Given the description of an element on the screen output the (x, y) to click on. 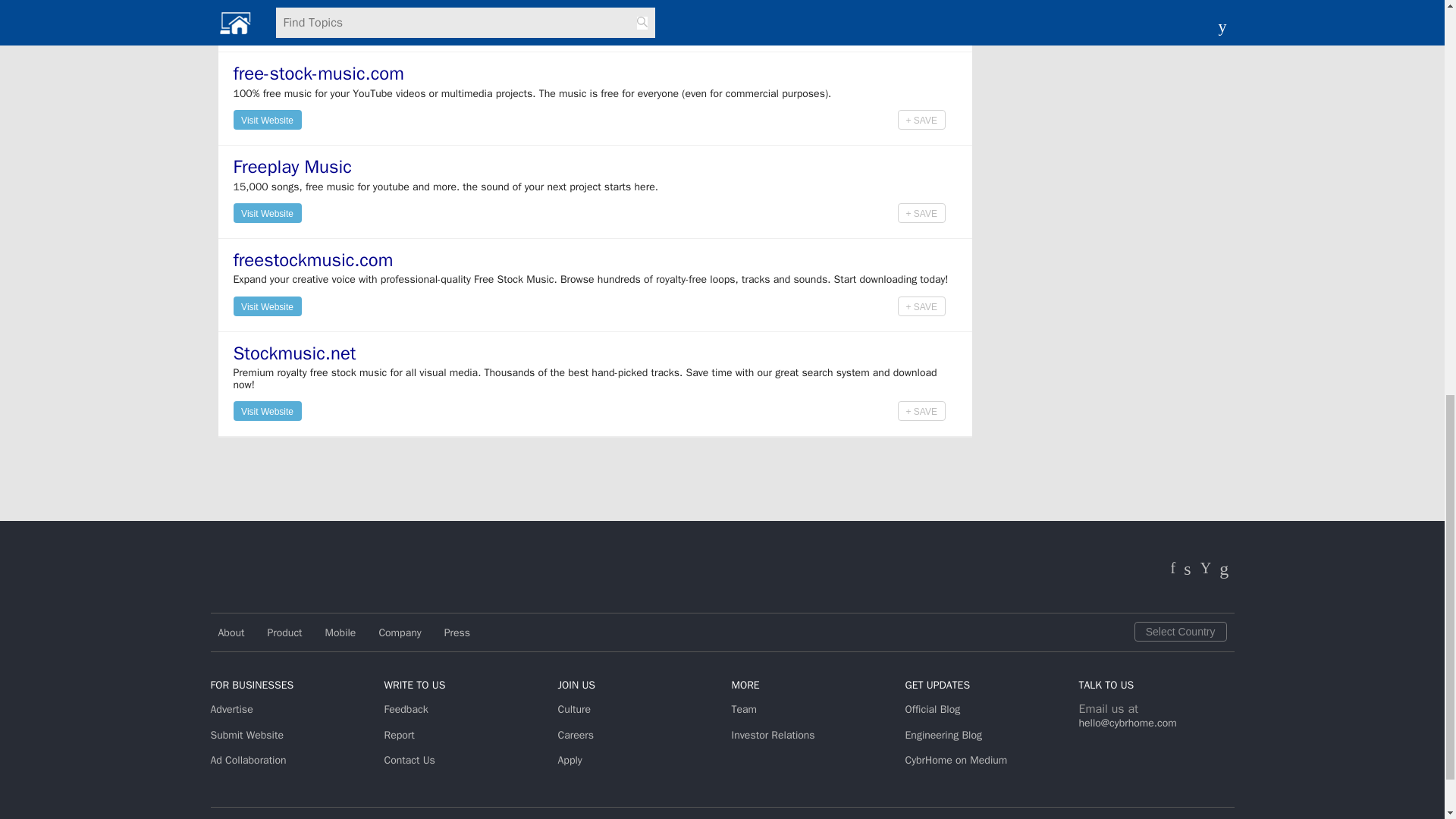
Visit Website (266, 119)
Visit Website (266, 25)
free-stock-music.com (318, 73)
Visit Website (266, 118)
Visit Website (266, 26)
